Given the description of an element on the screen output the (x, y) to click on. 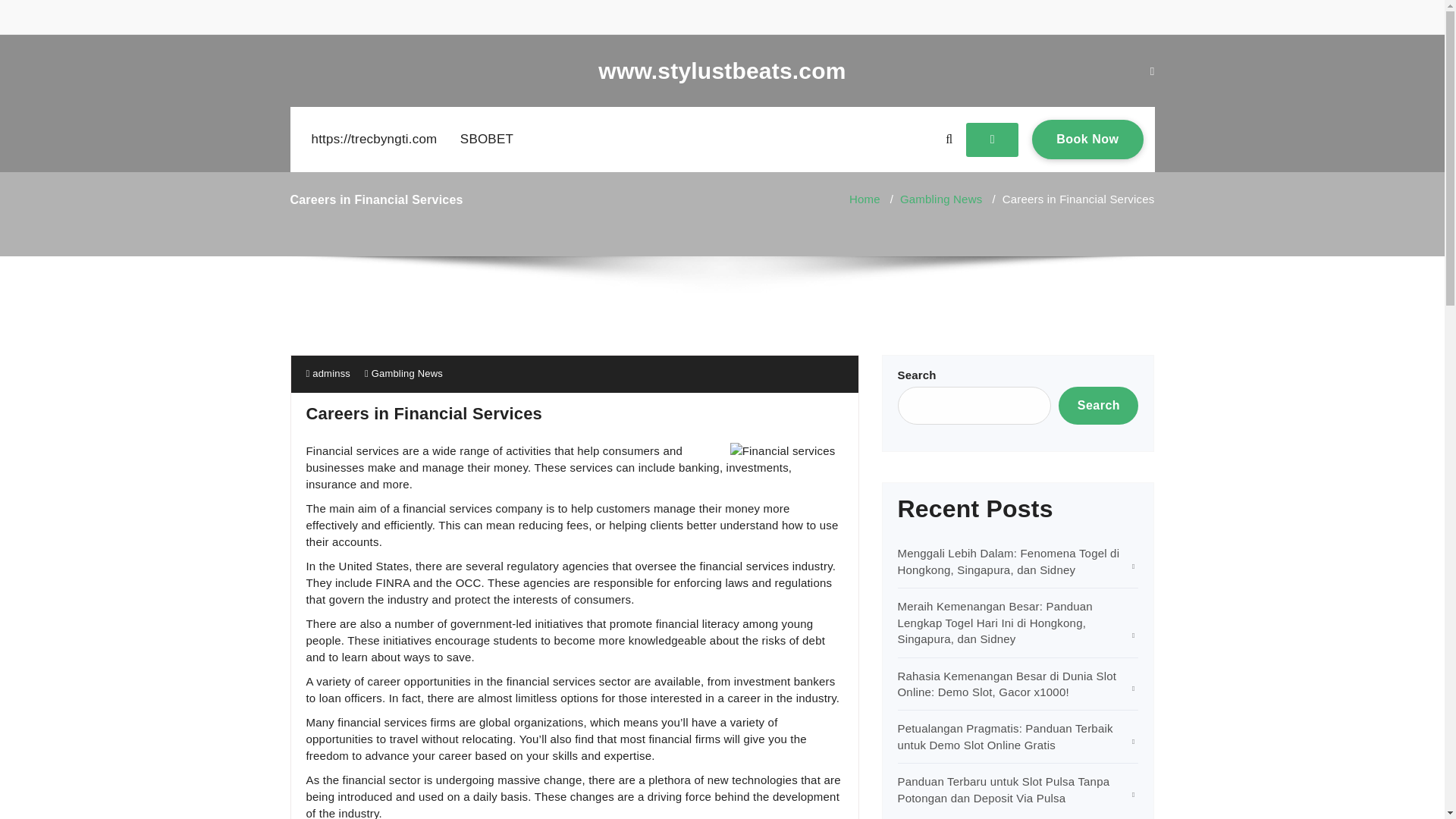
Home (864, 198)
Gambling News (940, 198)
SBOBET (486, 139)
www.stylustbeats.com (721, 71)
adminss (327, 373)
Gambling News (406, 373)
Search (1098, 405)
